Given the description of an element on the screen output the (x, y) to click on. 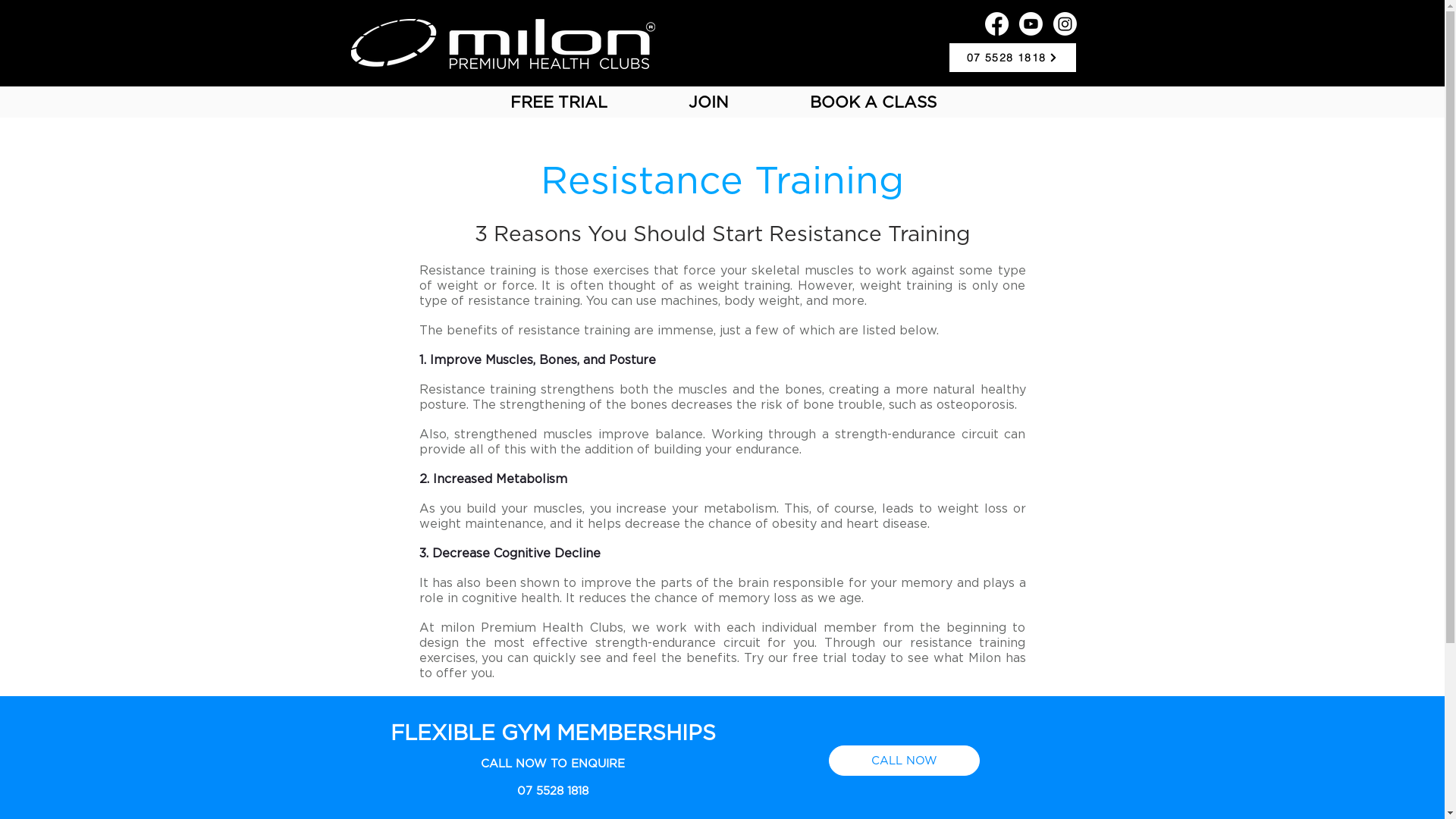
CALL NOW Element type: text (903, 760)
FREE TRIAL Element type: text (559, 103)
JOIN Element type: text (707, 103)
BOOK A CLASS Element type: text (872, 103)
07 5528 1818 Element type: text (1011, 57)
Embedded Content Element type: hover (262, 229)
